Given the description of an element on the screen output the (x, y) to click on. 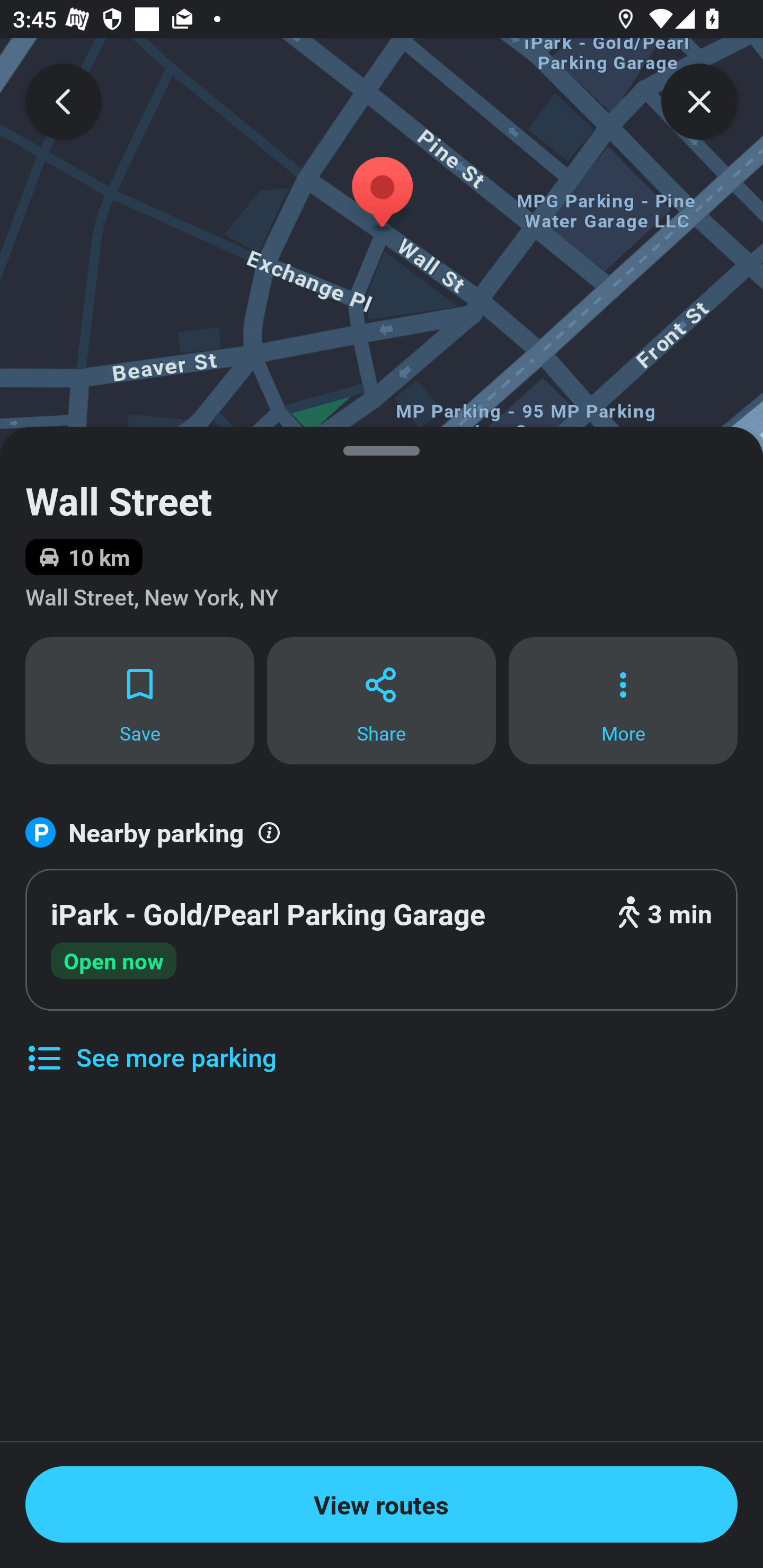
Wall Street 10 km Wall Street, New York, NY (381, 531)
Save (139, 700)
Share (381, 700)
More (622, 700)
iPark - Gold/Pearl Parking Garage 3 min Open now (381, 939)
See more parking (150, 1043)
View routes (381, 1504)
